Given the description of an element on the screen output the (x, y) to click on. 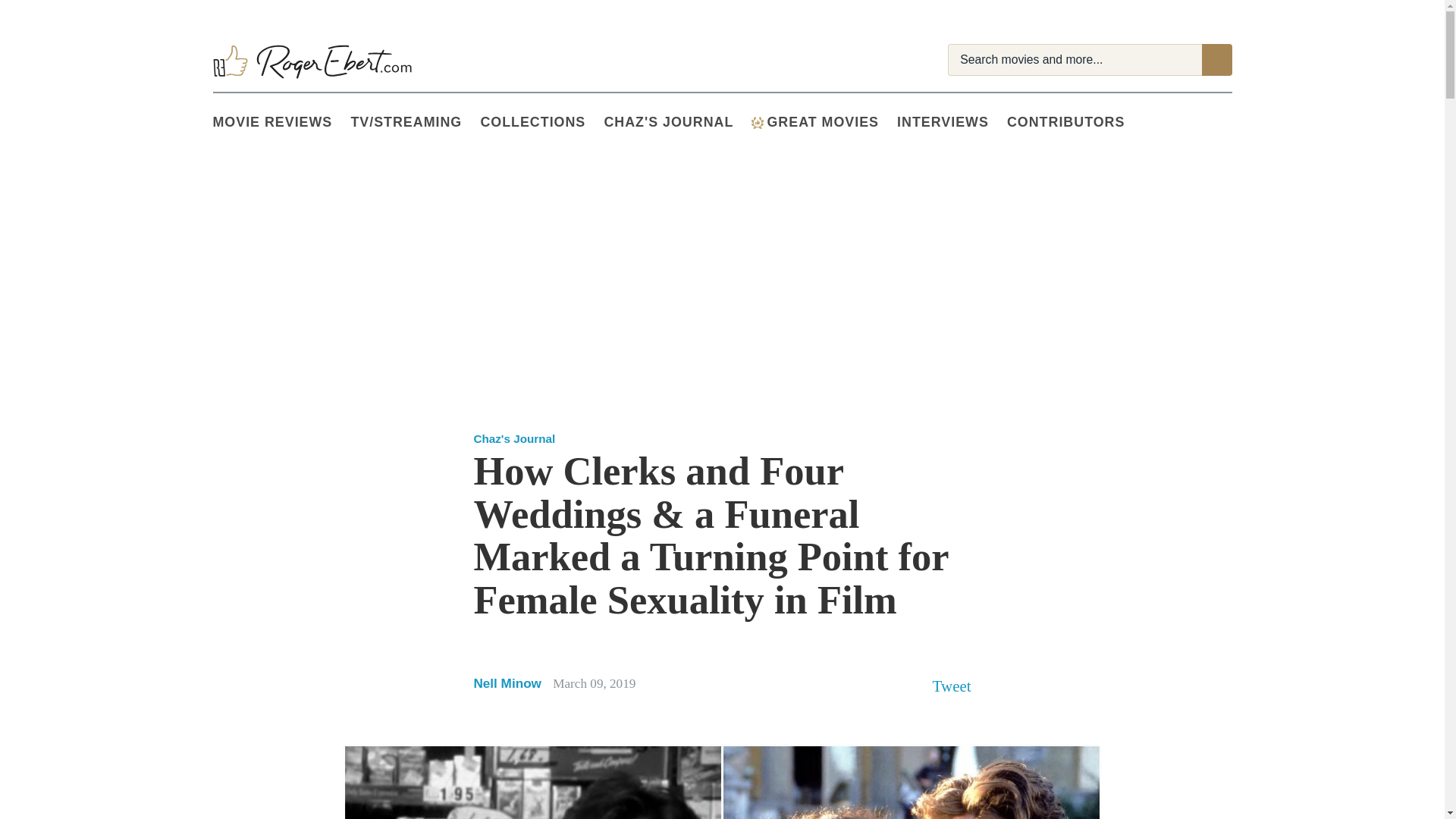
CONTRIBUTORS (1074, 122)
Movie Reviews (281, 122)
Great Movies (823, 122)
INTERVIEWS (951, 122)
COLLECTIONS (542, 122)
Chaz's Journal (513, 438)
GREAT MOVIES (823, 122)
Tweet (952, 686)
Contributors (1074, 122)
Search (1216, 60)
MOVIE REVIEWS (281, 122)
Collections (542, 122)
Nell Minow (508, 683)
Great Movies (756, 122)
Chaz's Journal (677, 122)
